Given the description of an element on the screen output the (x, y) to click on. 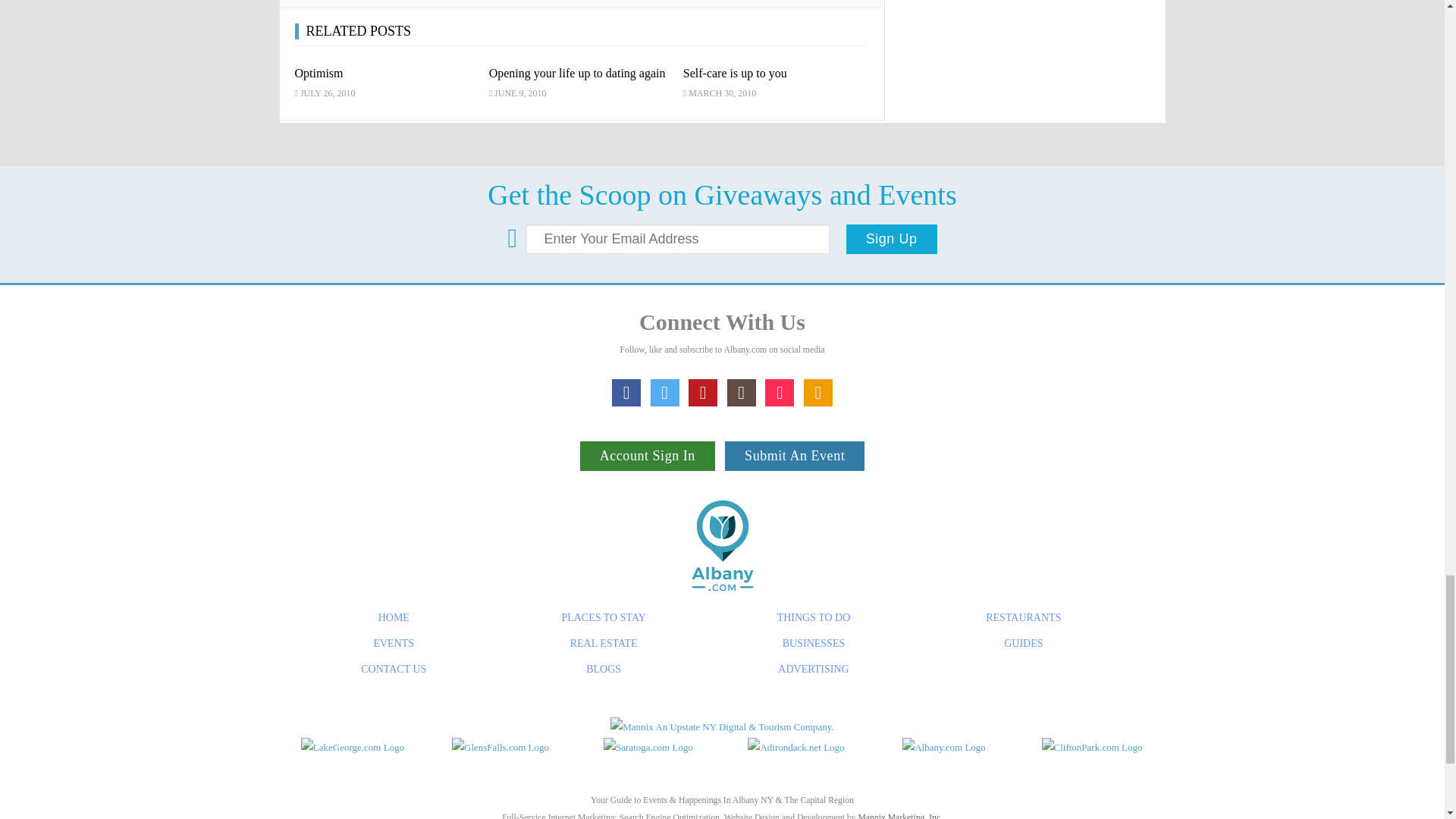
Facebook (625, 392)
Self-care is up to you (734, 72)
Instagram (740, 392)
My Planner (817, 392)
Opening your life up to dating again (577, 72)
X (664, 392)
Pinterest (702, 392)
Optimism (318, 72)
TikTok (779, 392)
